Given the description of an element on the screen output the (x, y) to click on. 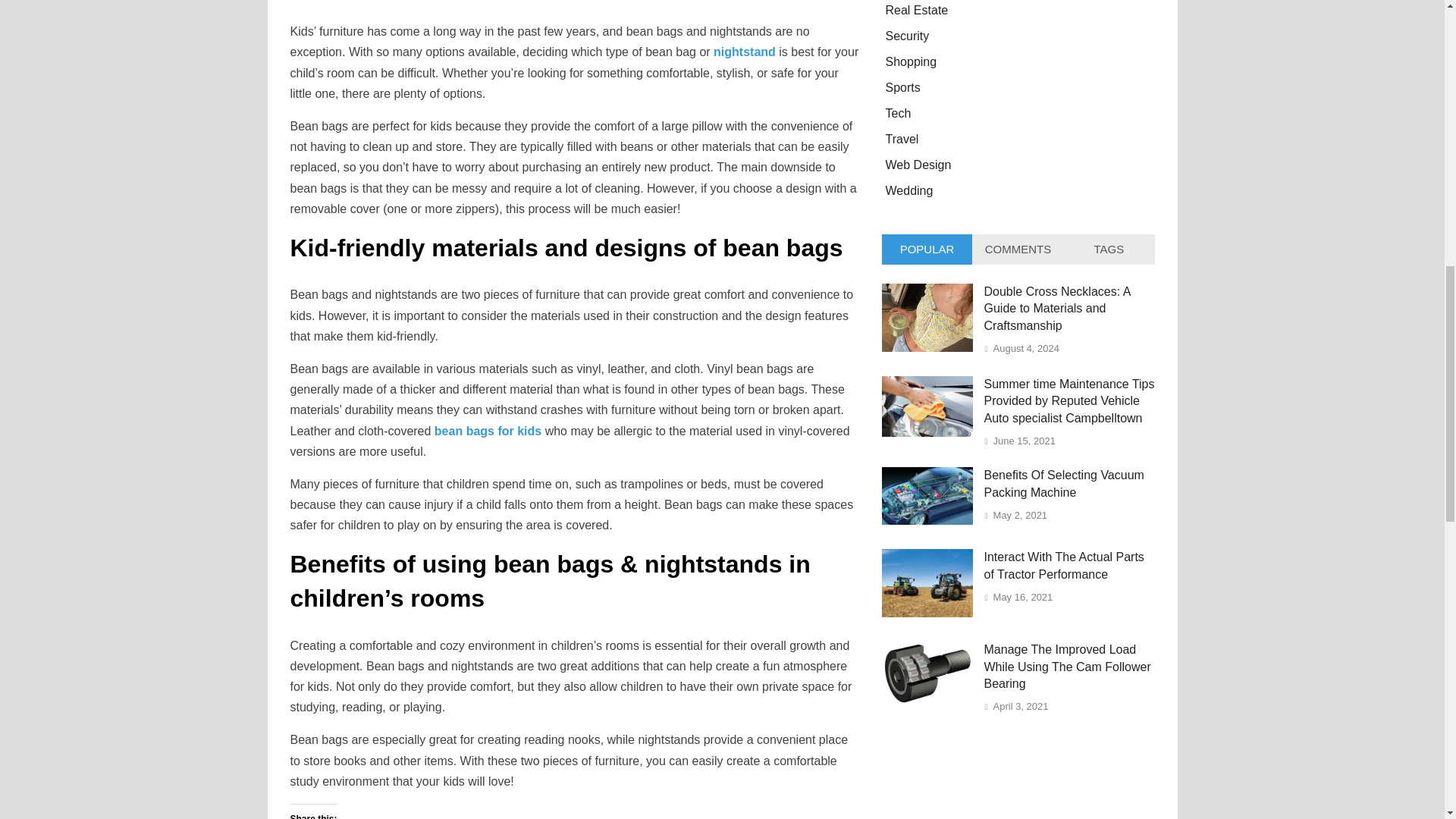
nightstand (744, 51)
Interact With The Actual Parts of Tractor Performance (927, 612)
bean bags for kids (487, 431)
Benefits Of Selecting Vacuum Packing Machine (927, 520)
